Given the description of an element on the screen output the (x, y) to click on. 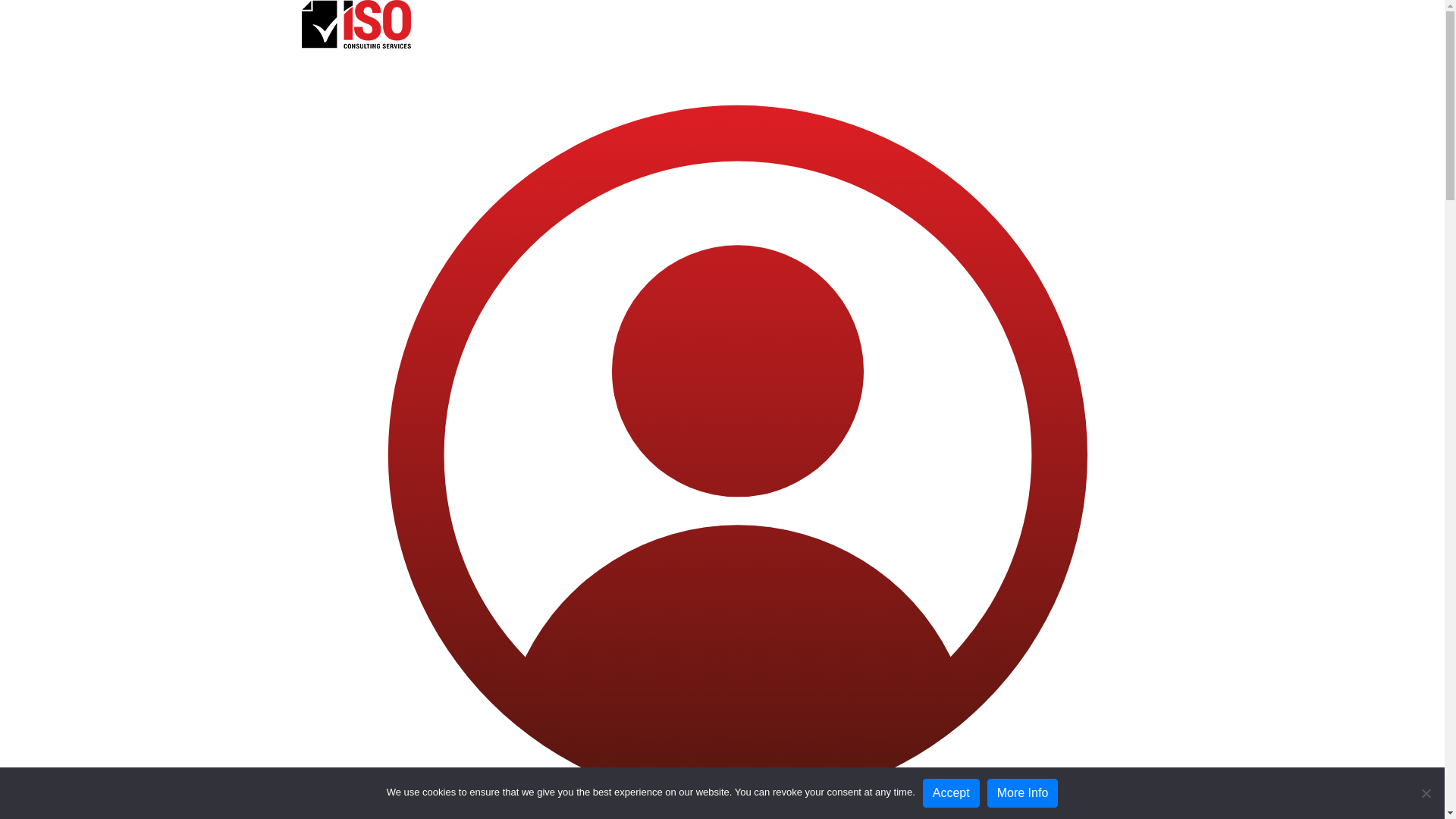
ISO Consulting Services Element type: hover (356, 23)
No Element type: hover (1425, 792)
Accept Element type: text (950, 792)
More Info Element type: text (1022, 792)
